Given the description of an element on the screen output the (x, y) to click on. 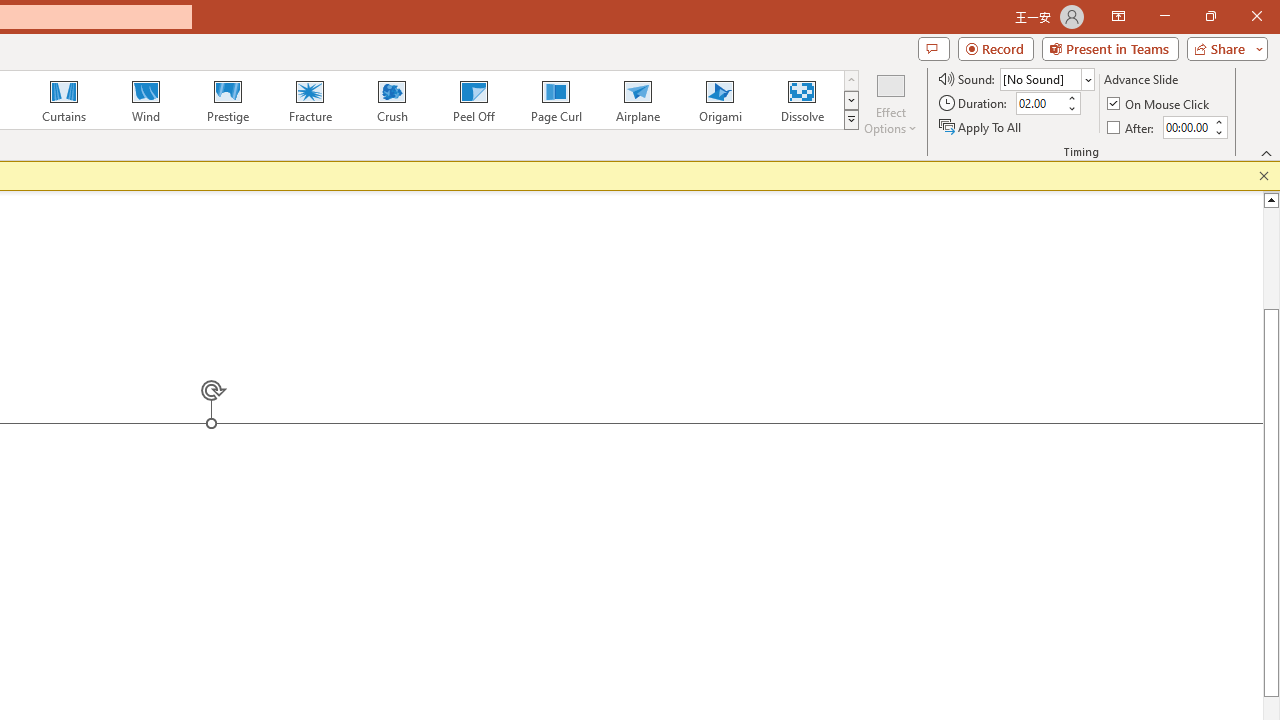
Duration (1039, 103)
Prestige (227, 100)
Sound (1046, 78)
Apply To All (981, 126)
Airplane (637, 100)
Page Curl (555, 100)
Curtains (63, 100)
